Given the description of an element on the screen output the (x, y) to click on. 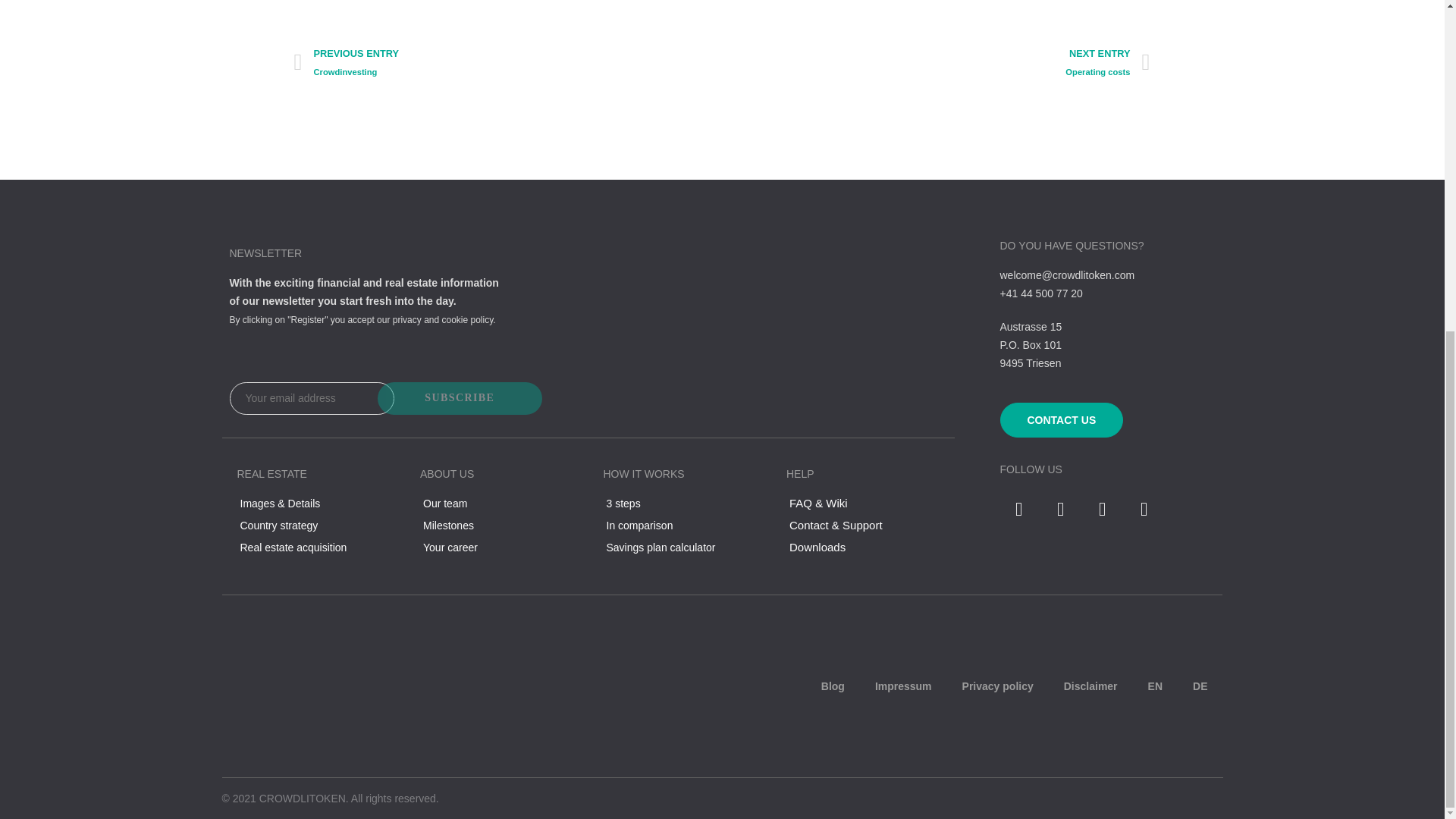
EN (1154, 686)
Logo white 500px (296, 686)
DE (1200, 686)
